Given the description of an element on the screen output the (x, y) to click on. 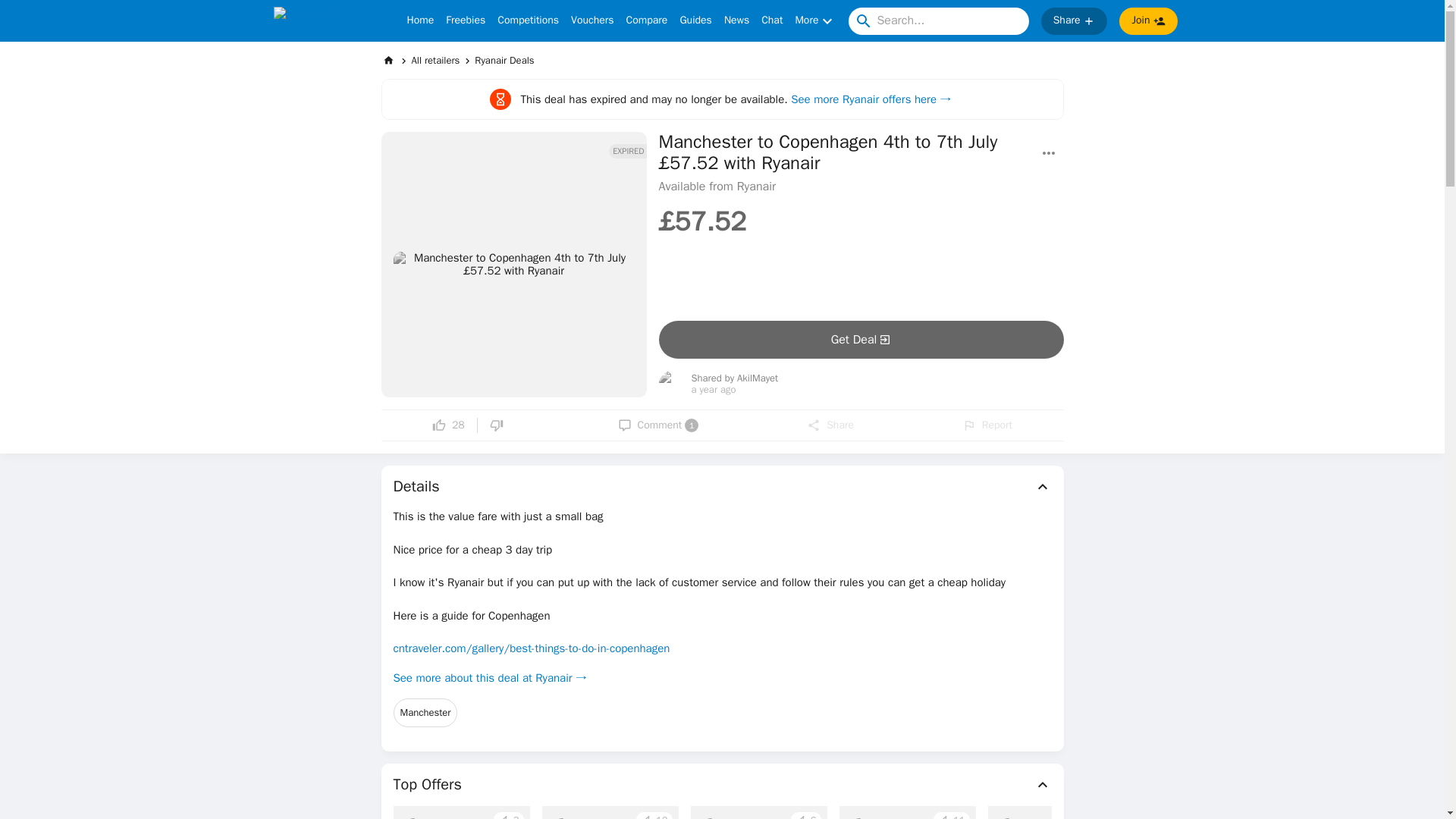
Top Offers (722, 784)
Vouchers (591, 21)
Share (1074, 21)
Ryanair Deals (504, 60)
Home (419, 21)
Shared by AkilMayet (734, 378)
Get Deal (860, 339)
Join (1147, 21)
28 (448, 425)
Share (829, 425)
